Given the description of an element on the screen output the (x, y) to click on. 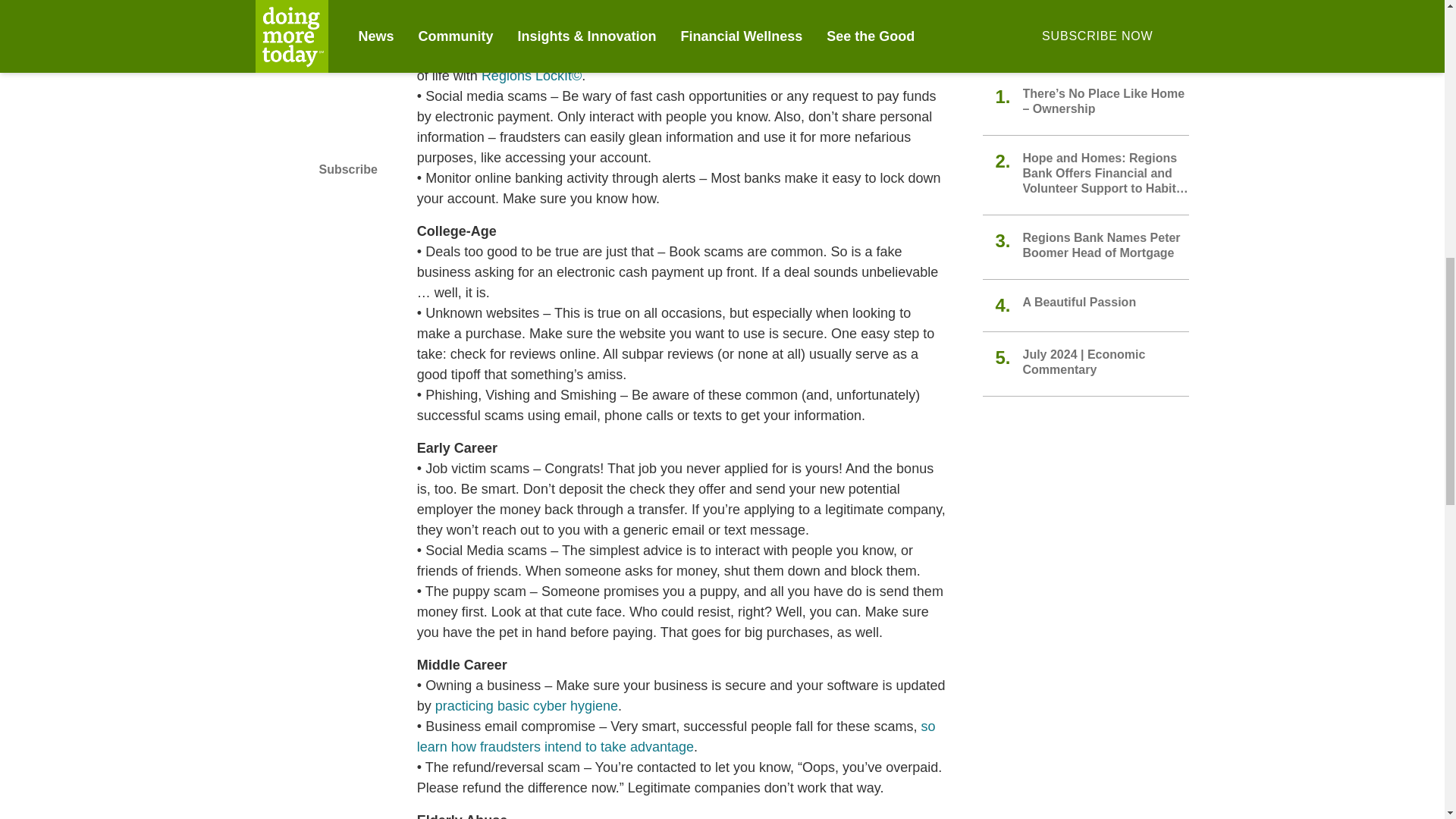
practicing basic cyber hygiene (526, 706)
so learn how fraudsters intend to take advantage (676, 737)
